Given the description of an element on the screen output the (x, y) to click on. 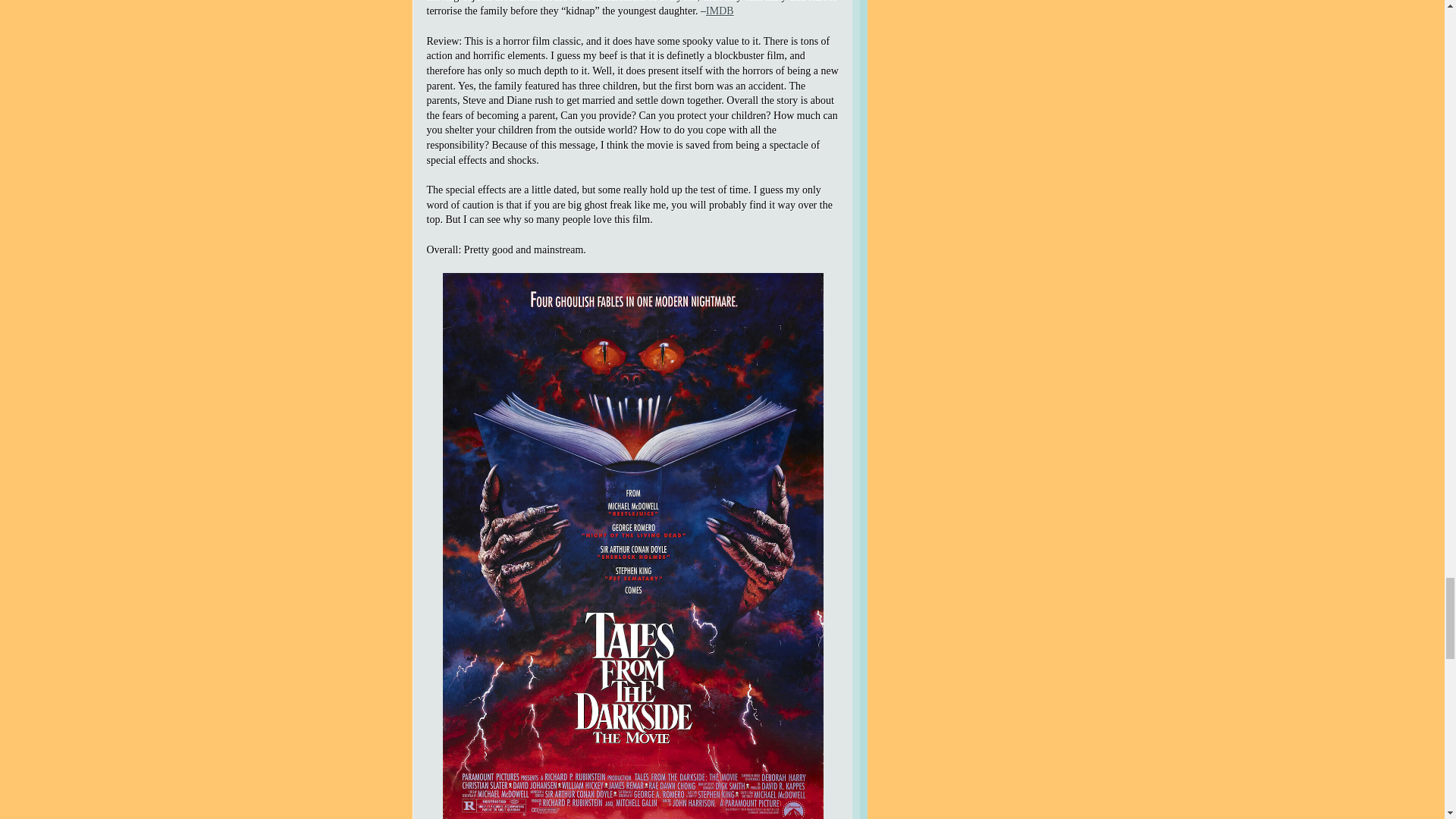
IMDB (719, 10)
